Given the description of an element on the screen output the (x, y) to click on. 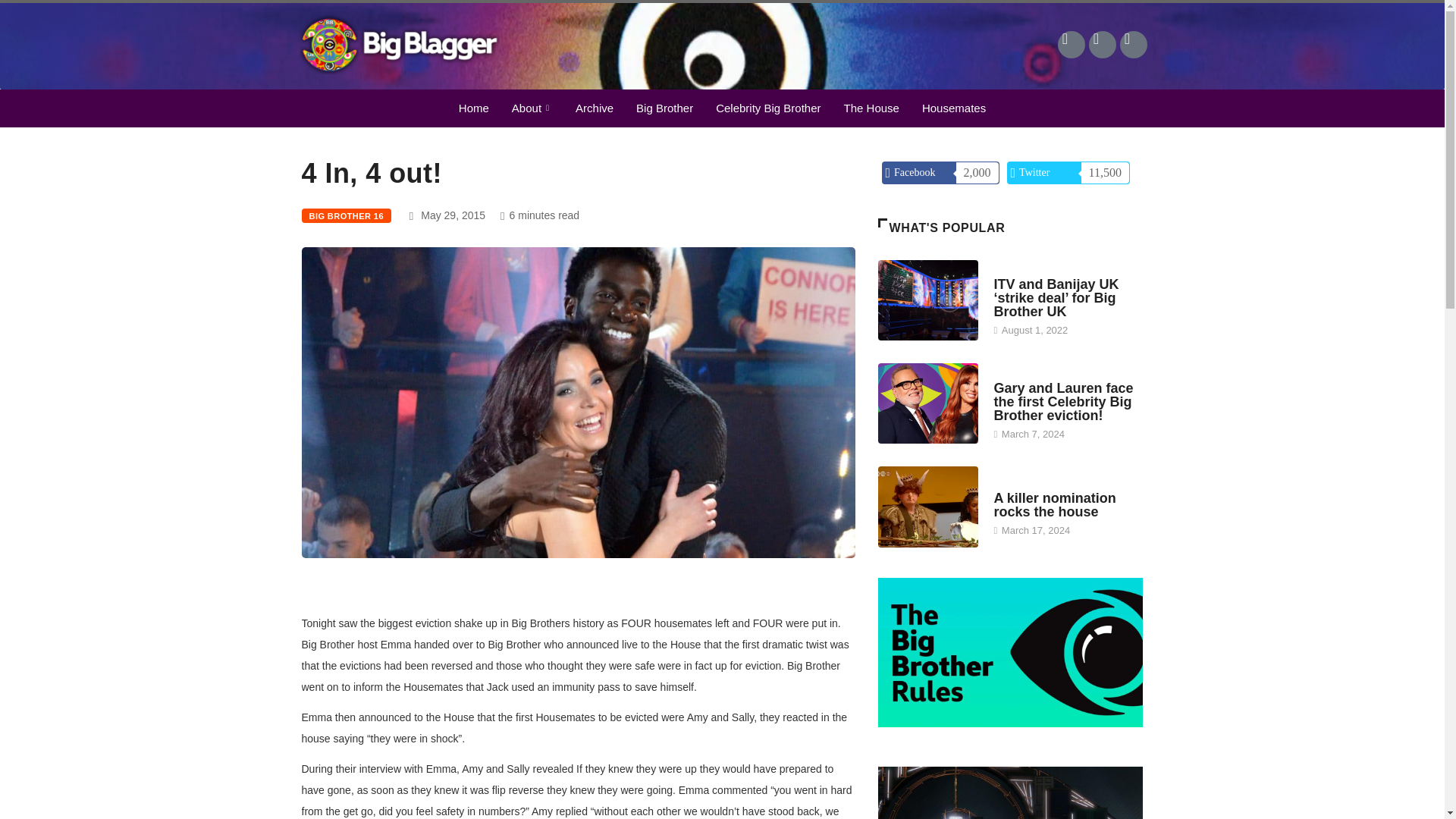
Housemates (954, 108)
About (532, 108)
A killer nomination rocks the house (1053, 504)
Celebrity Big Brother (767, 108)
A killer nomination rocks the house (927, 506)
The House (871, 108)
BIG BROTHER 16 (346, 215)
Home (473, 108)
Big Brother (664, 108)
Archive (594, 108)
